Given the description of an element on the screen output the (x, y) to click on. 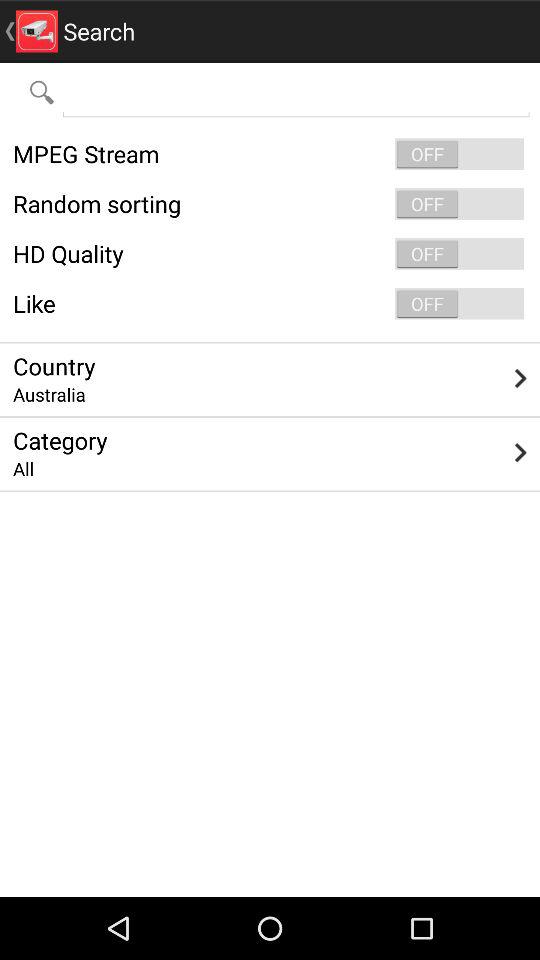
select item below random sorting icon (269, 253)
